Given the description of an element on the screen output the (x, y) to click on. 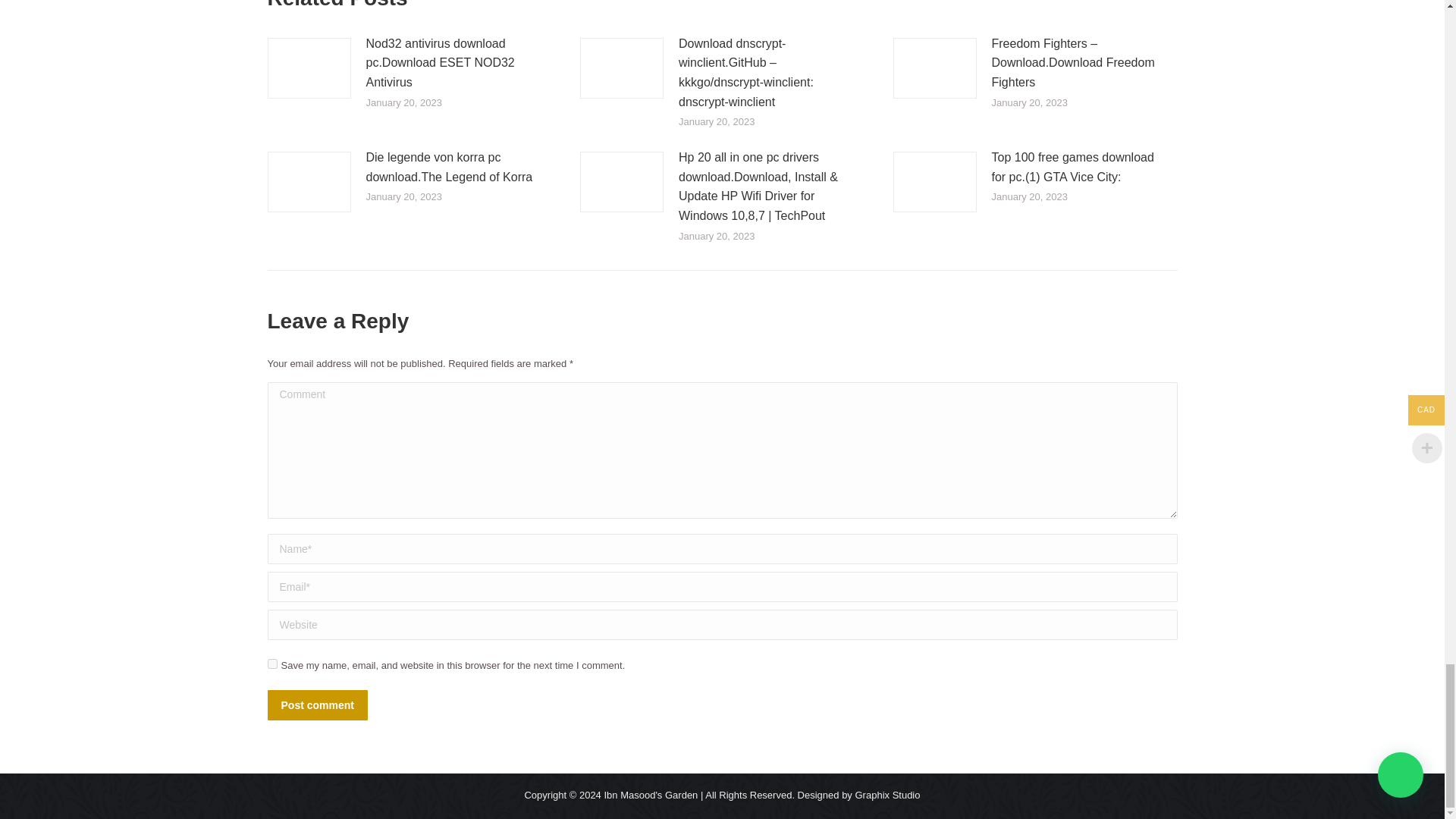
yes (271, 664)
